Given the description of an element on the screen output the (x, y) to click on. 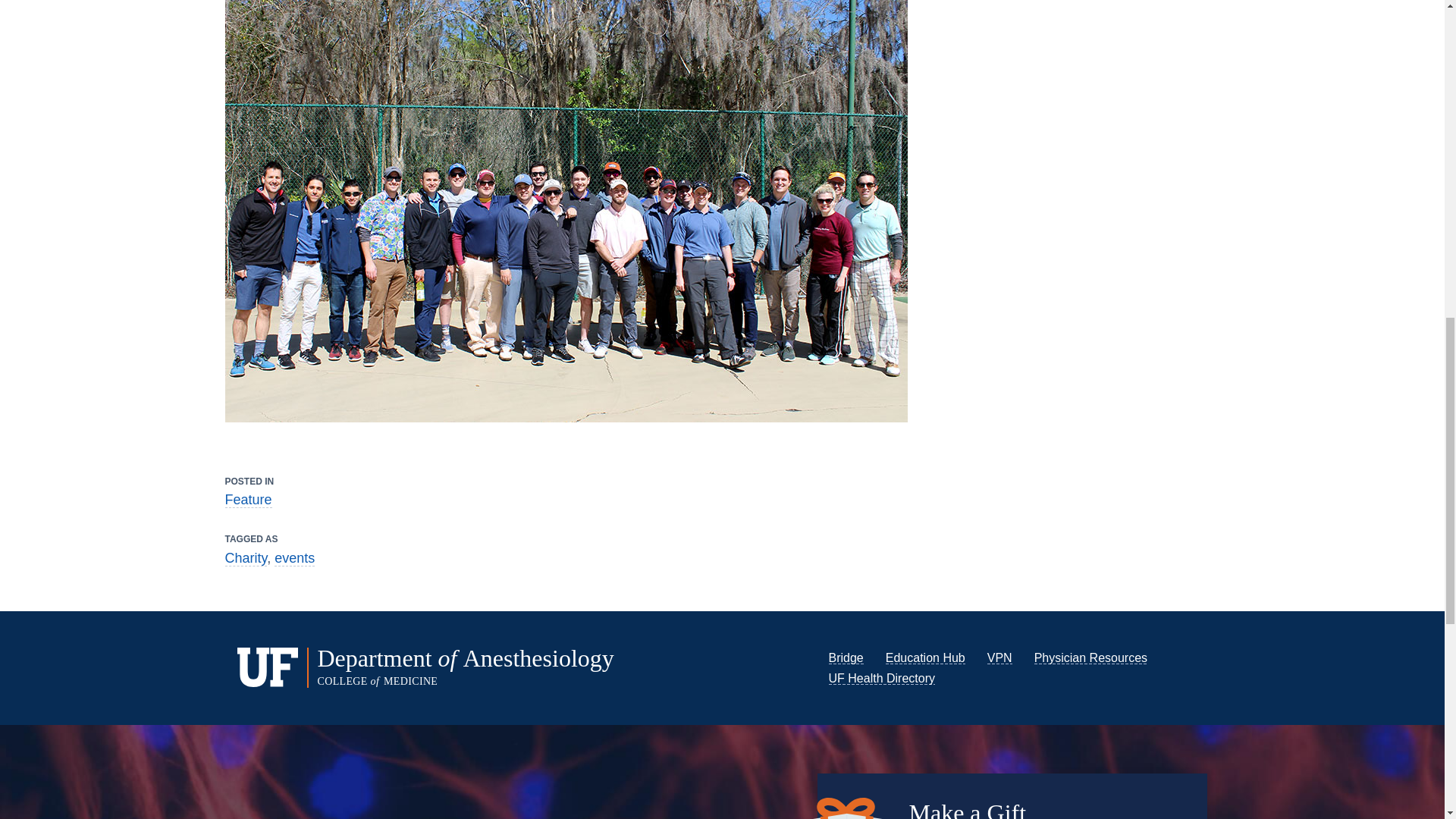
VPN (999, 657)
Bridge (845, 657)
UF Health Directory (881, 677)
Education Hub (925, 657)
Physician Resources (1090, 657)
Google Maps Embed (410, 798)
